Given the description of an element on the screen output the (x, y) to click on. 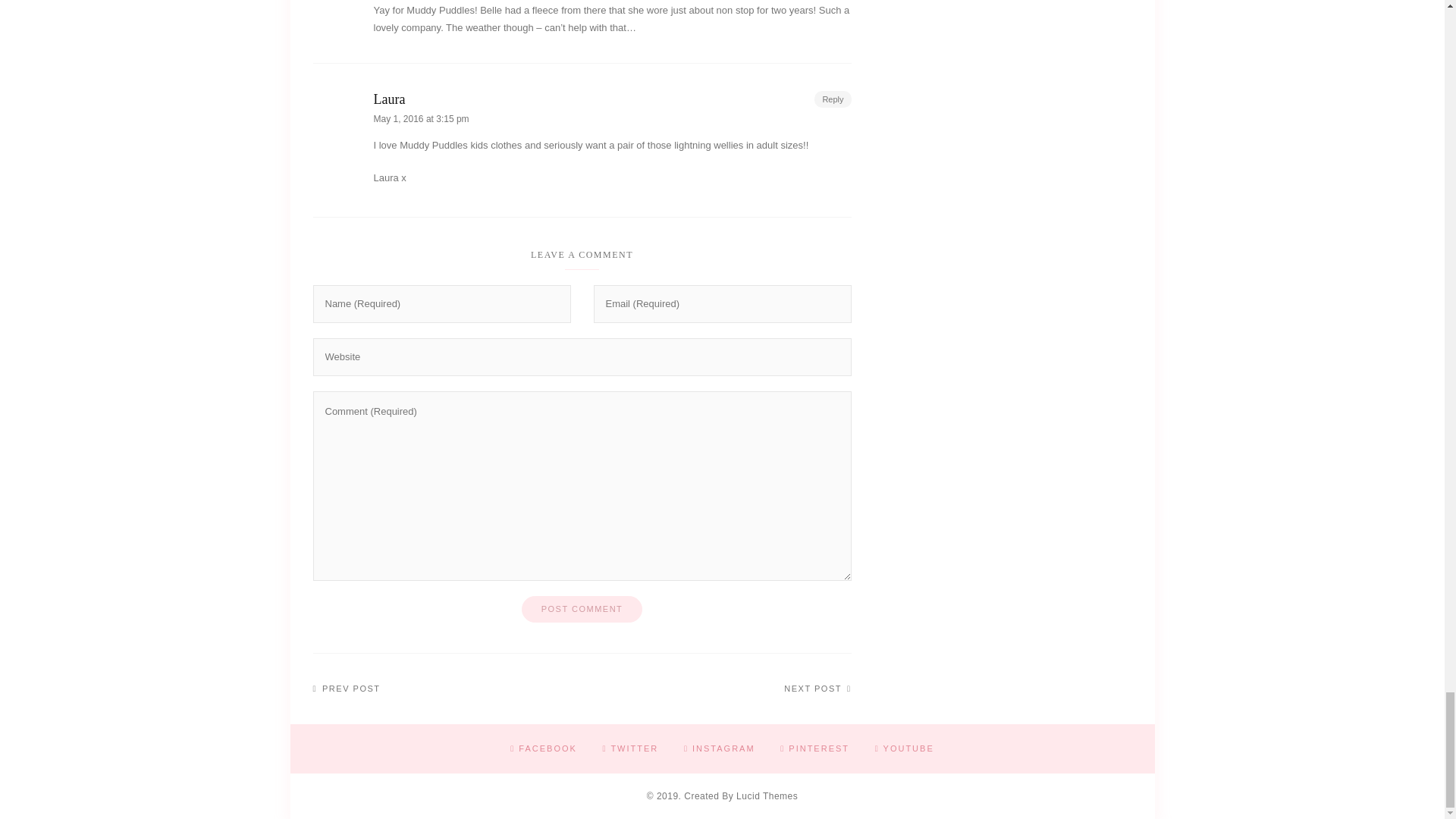
Post Comment (582, 609)
